Given the description of an element on the screen output the (x, y) to click on. 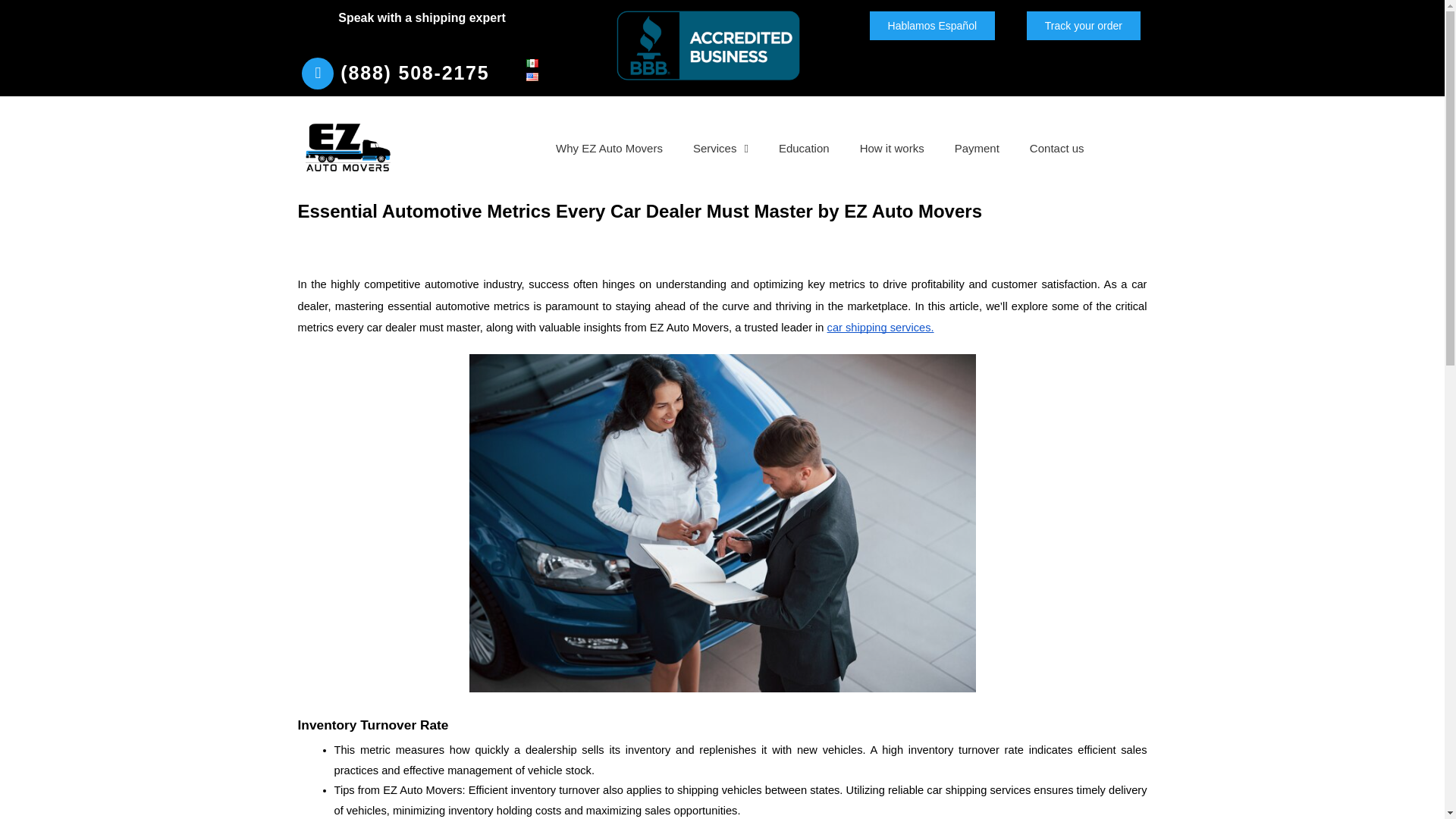
Contact us (1056, 148)
Services (720, 148)
car shipping services. (880, 327)
How it works (891, 148)
Why EZ Auto Movers (609, 148)
Education (803, 148)
Track your order (1083, 25)
Payment (976, 148)
